Given the description of an element on the screen output the (x, y) to click on. 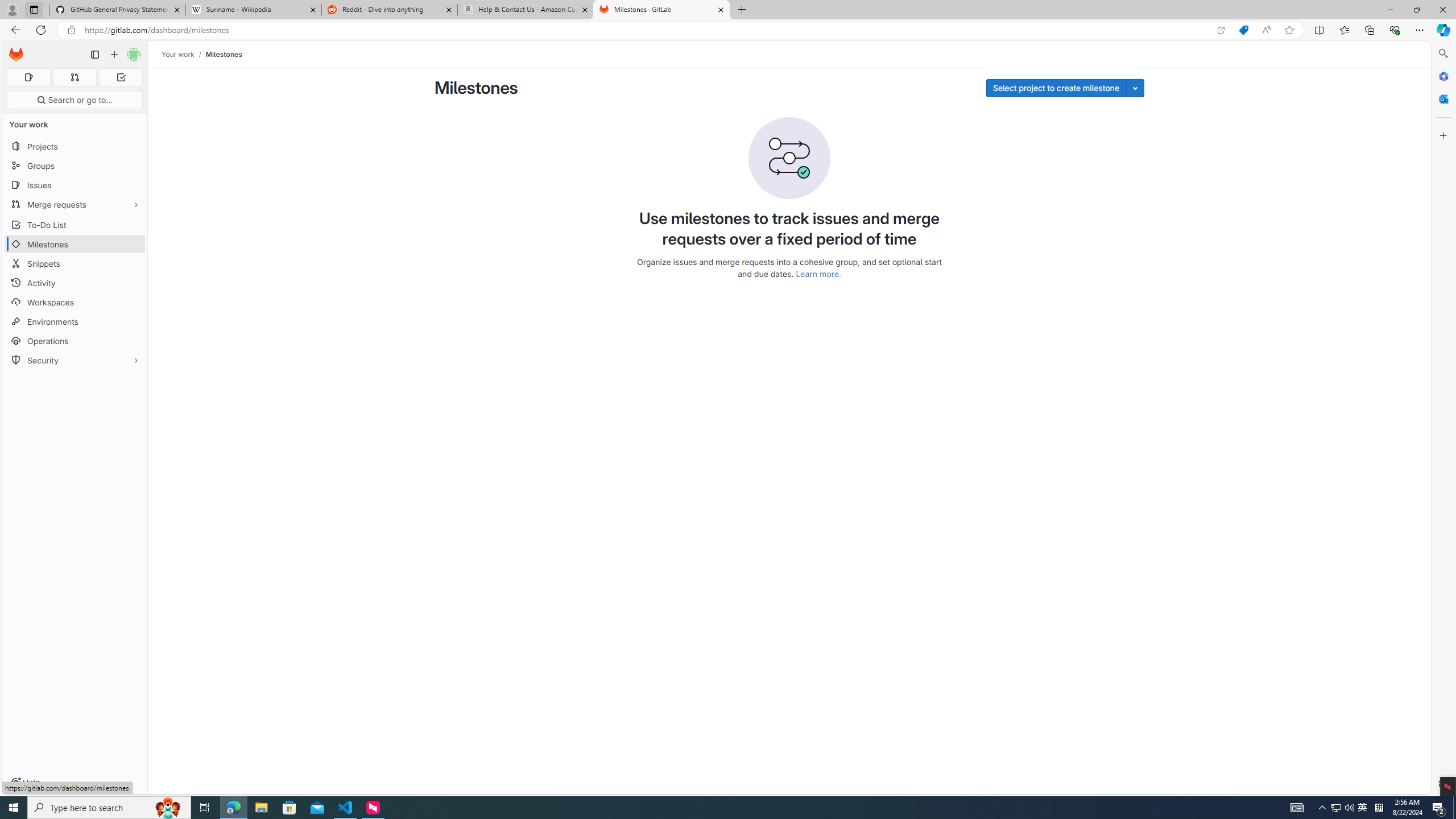
Select project to create milestone (1055, 87)
Snippets (74, 262)
Issues (74, 185)
Your work (178, 53)
Skip to main content (13, 49)
App bar (728, 29)
Help (25, 782)
Activity (74, 282)
Homepage (16, 54)
Open in app (1220, 29)
Shopping in Microsoft Edge (1243, 29)
Milestones (223, 53)
